Given the description of an element on the screen output the (x, y) to click on. 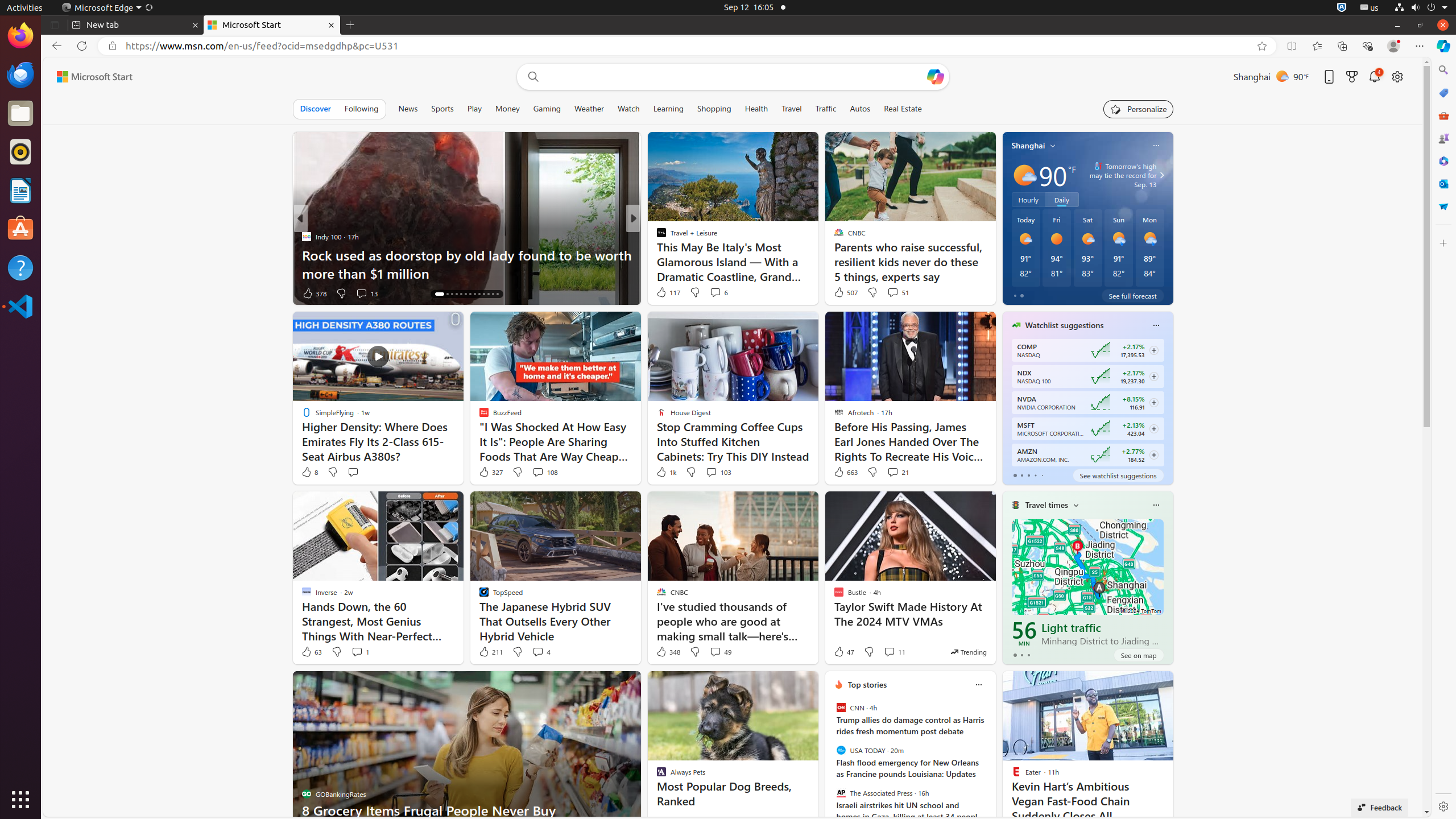
Why your sleeping position is shortening your life Element type: link (816, 272)
View site information Element type: push-button (112, 46)
View comments 103 Comment Element type: push-button (711, 471)
40 Like Element type: toggle-button (662, 292)
View comments 62 Comment Element type: link (716, 292)
